Given the description of an element on the screen output the (x, y) to click on. 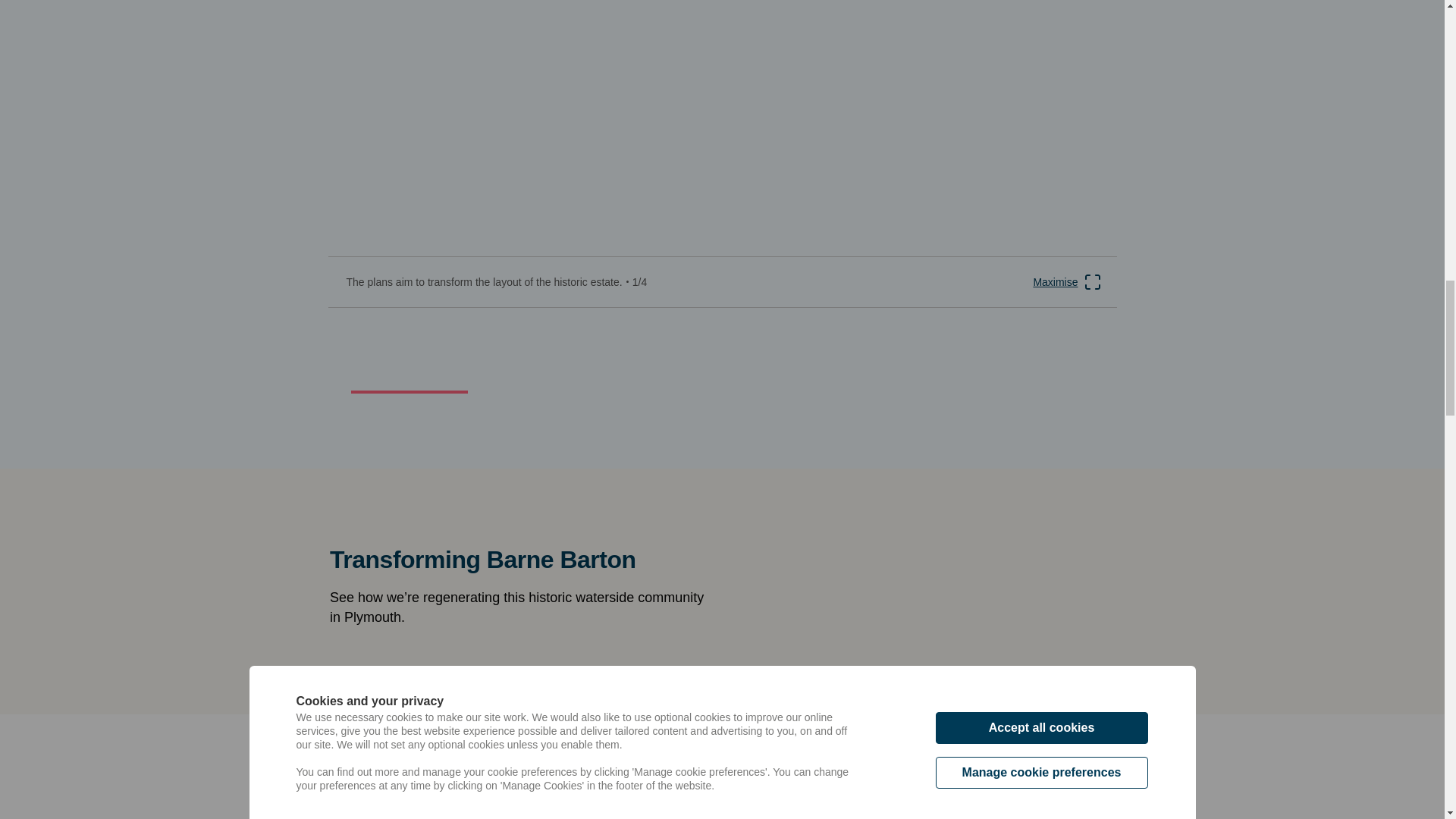
Gallery tab (807, 352)
Gallery tab (674, 352)
Gallery tab (408, 352)
Gallery tab (541, 352)
Maximise (674, 352)
